Given the description of an element on the screen output the (x, y) to click on. 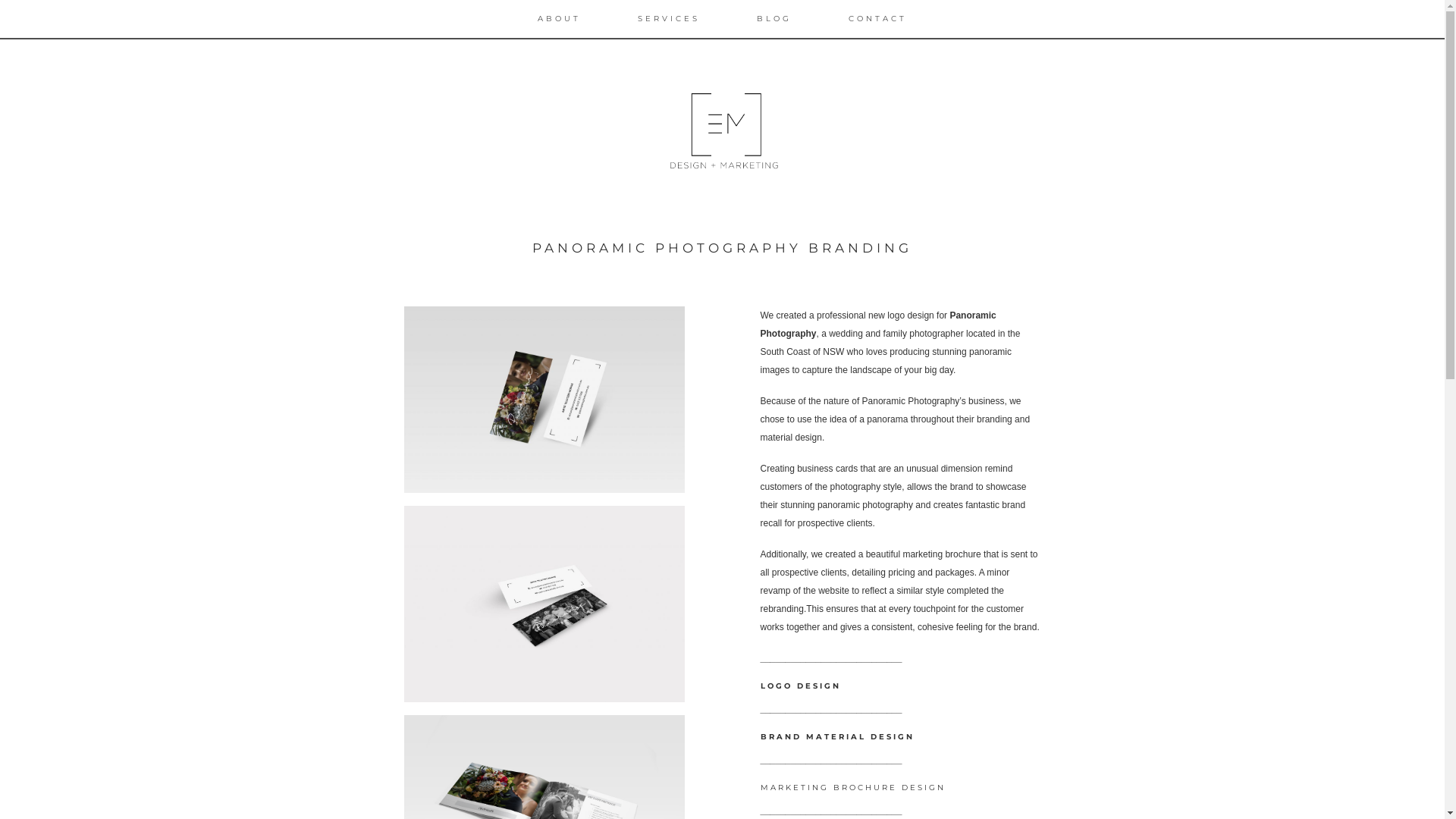
Panoramic Photography Element type: text (877, 324)
CONTACT Element type: text (877, 18)
BLOG Element type: text (773, 18)
ABOUT Element type: text (559, 18)
SERVICES Element type: text (668, 18)
